Given the description of an element on the screen output the (x, y) to click on. 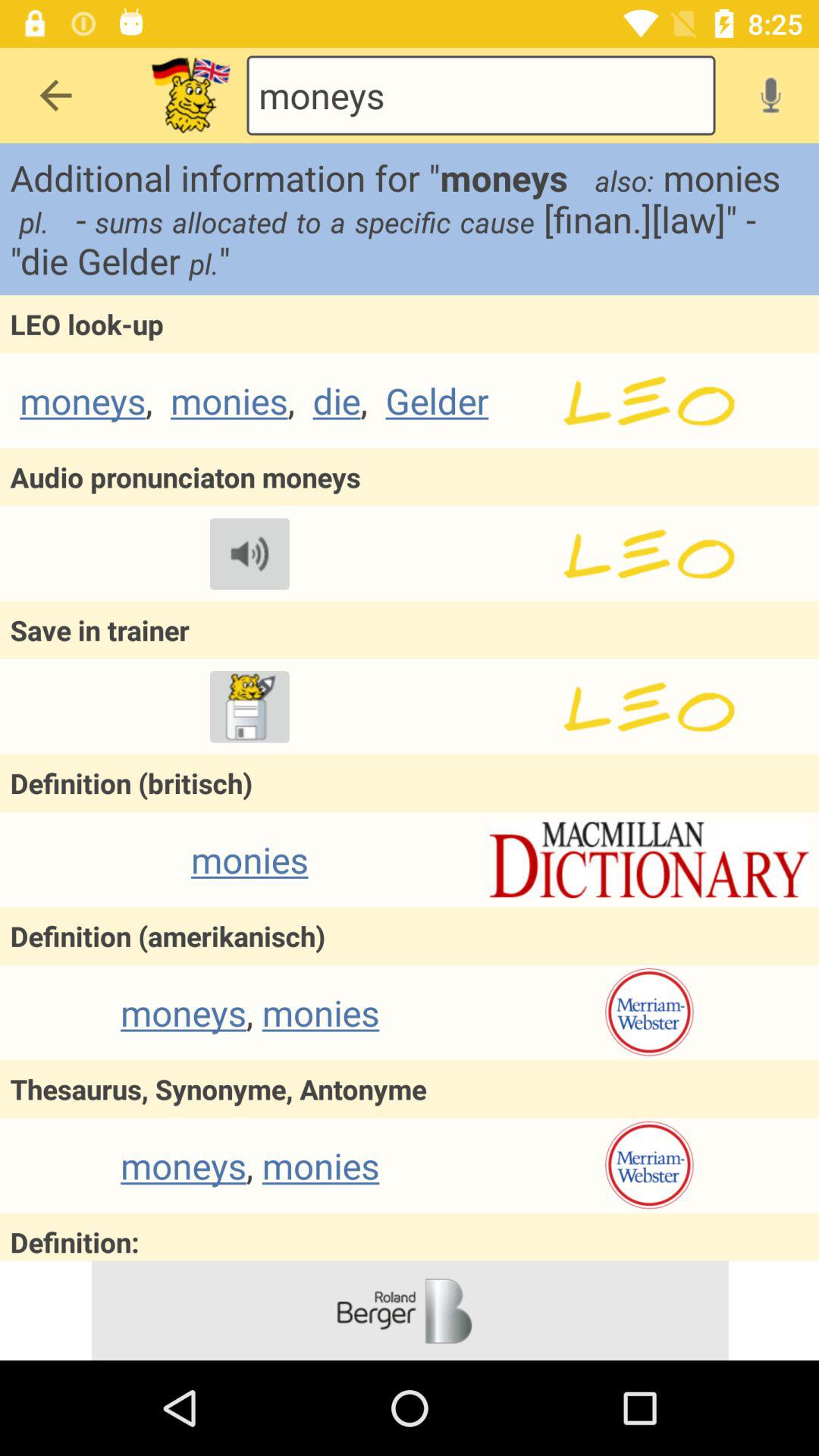
go to page (648, 553)
